Given the description of an element on the screen output the (x, y) to click on. 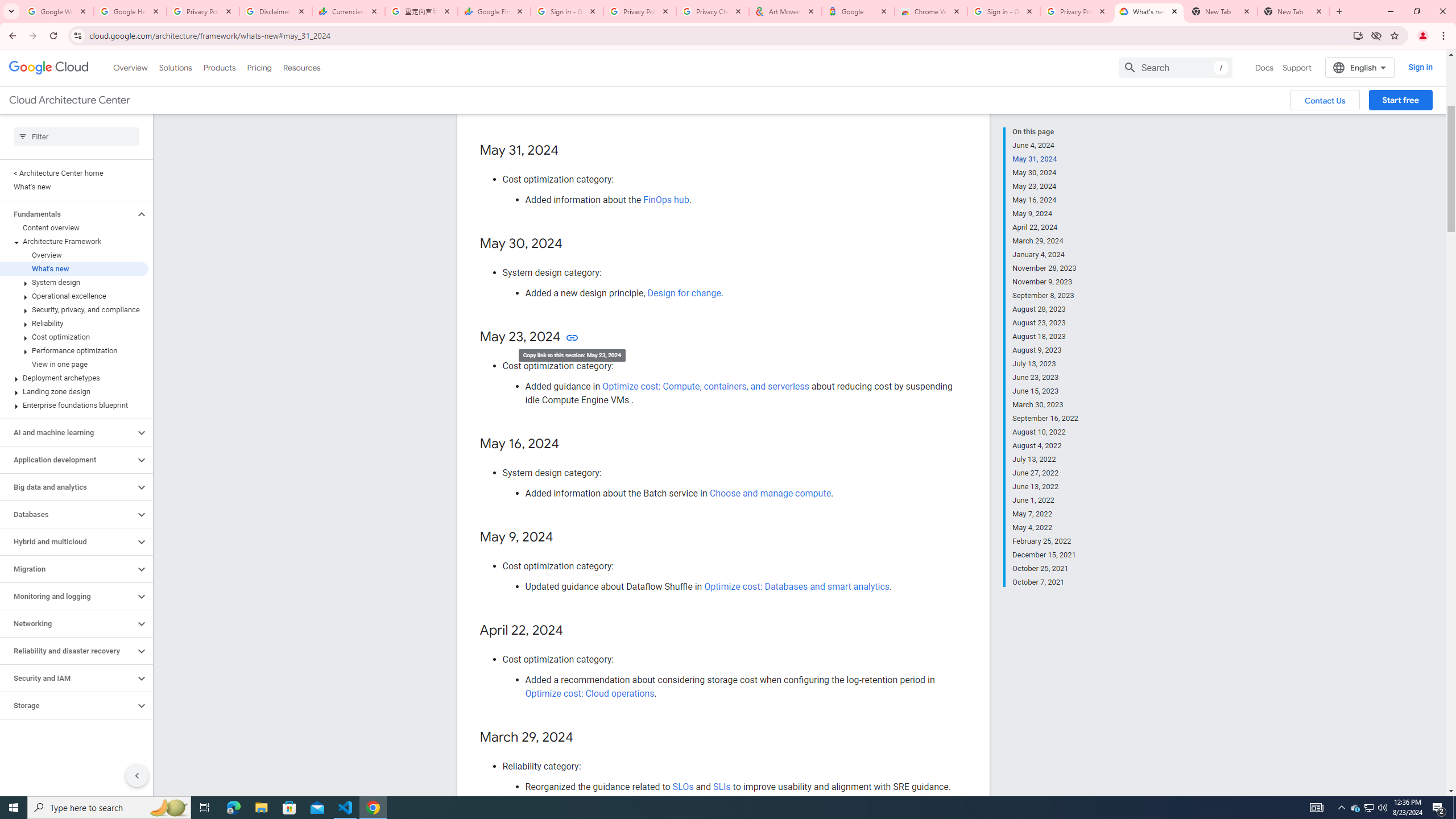
May 30, 2024 (1044, 172)
Reliability (74, 323)
optimizing (654, 92)
< Architecture Center home (74, 173)
Landing zone design (74, 391)
Chrome Web Store - Color themes by Chrome (930, 11)
June 13, 2022 (1044, 486)
October 25, 2021 (1044, 568)
June 23, 2023 (1044, 377)
Fundamentals (67, 214)
